Given the description of an element on the screen output the (x, y) to click on. 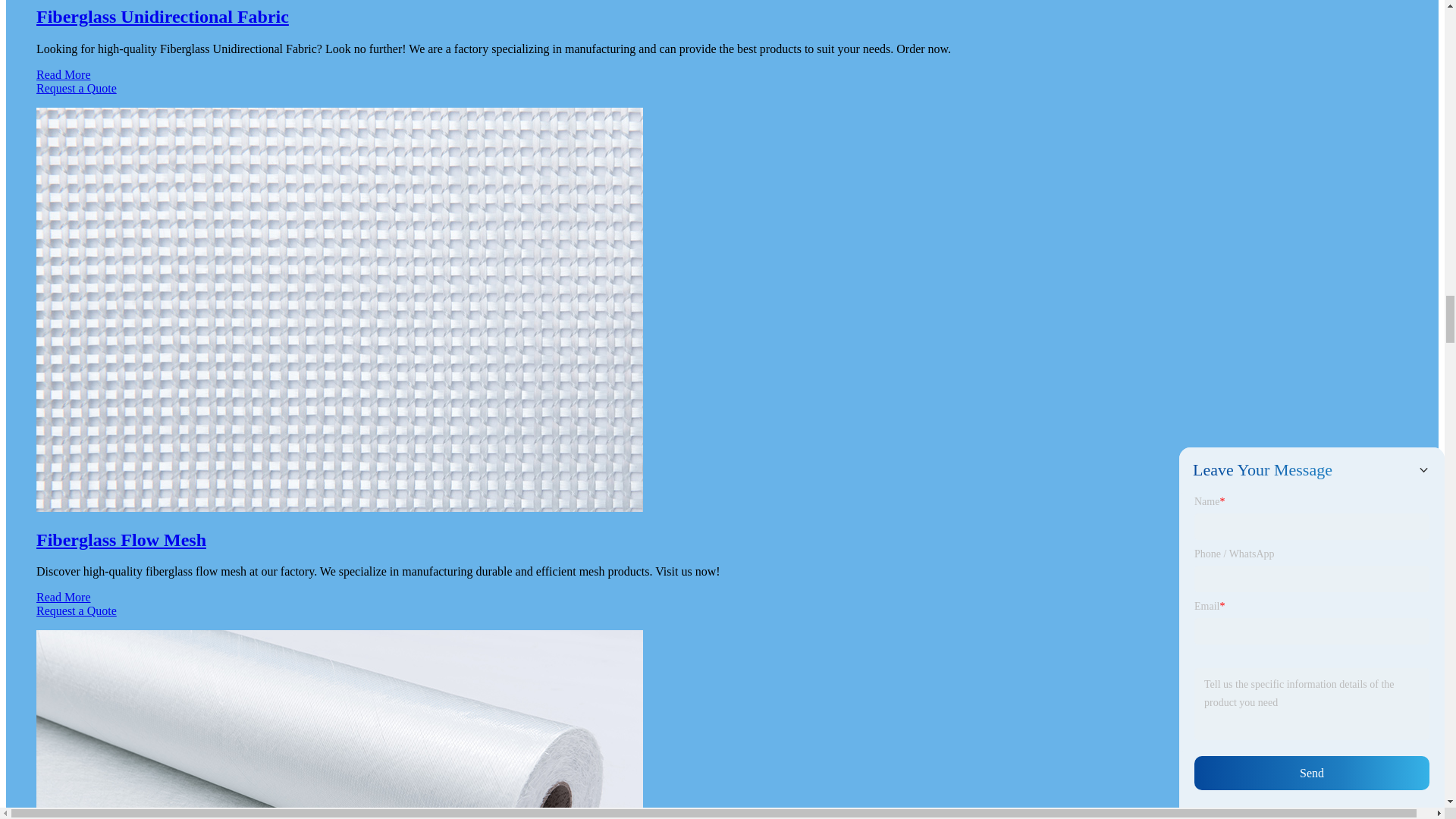
Fiberglass Unidirectional Fabric (162, 16)
Read More (63, 74)
Request a Quote (721, 94)
